Given the description of an element on the screen output the (x, y) to click on. 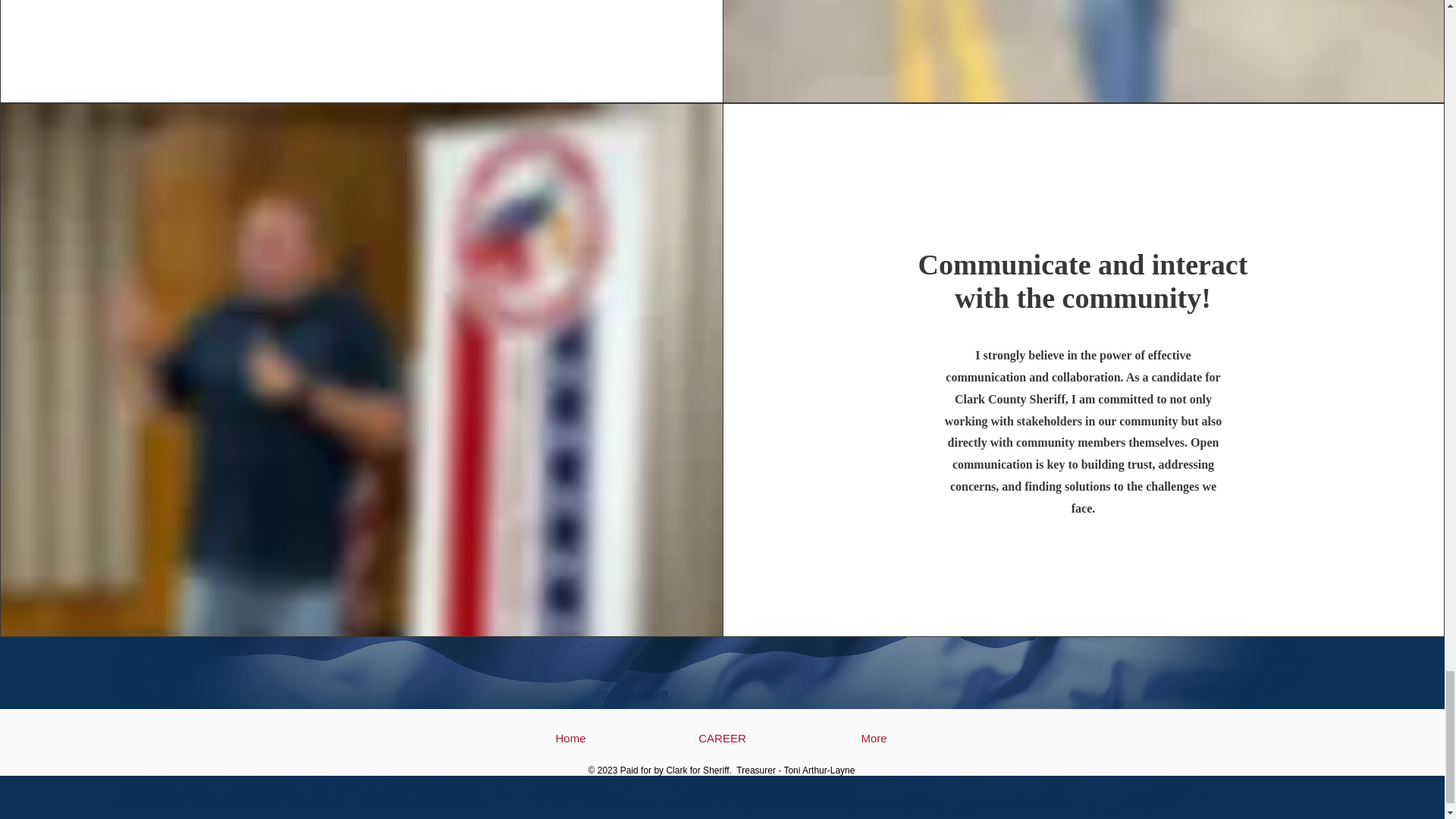
CAREER (721, 737)
Home (570, 737)
